Given the description of an element on the screen output the (x, y) to click on. 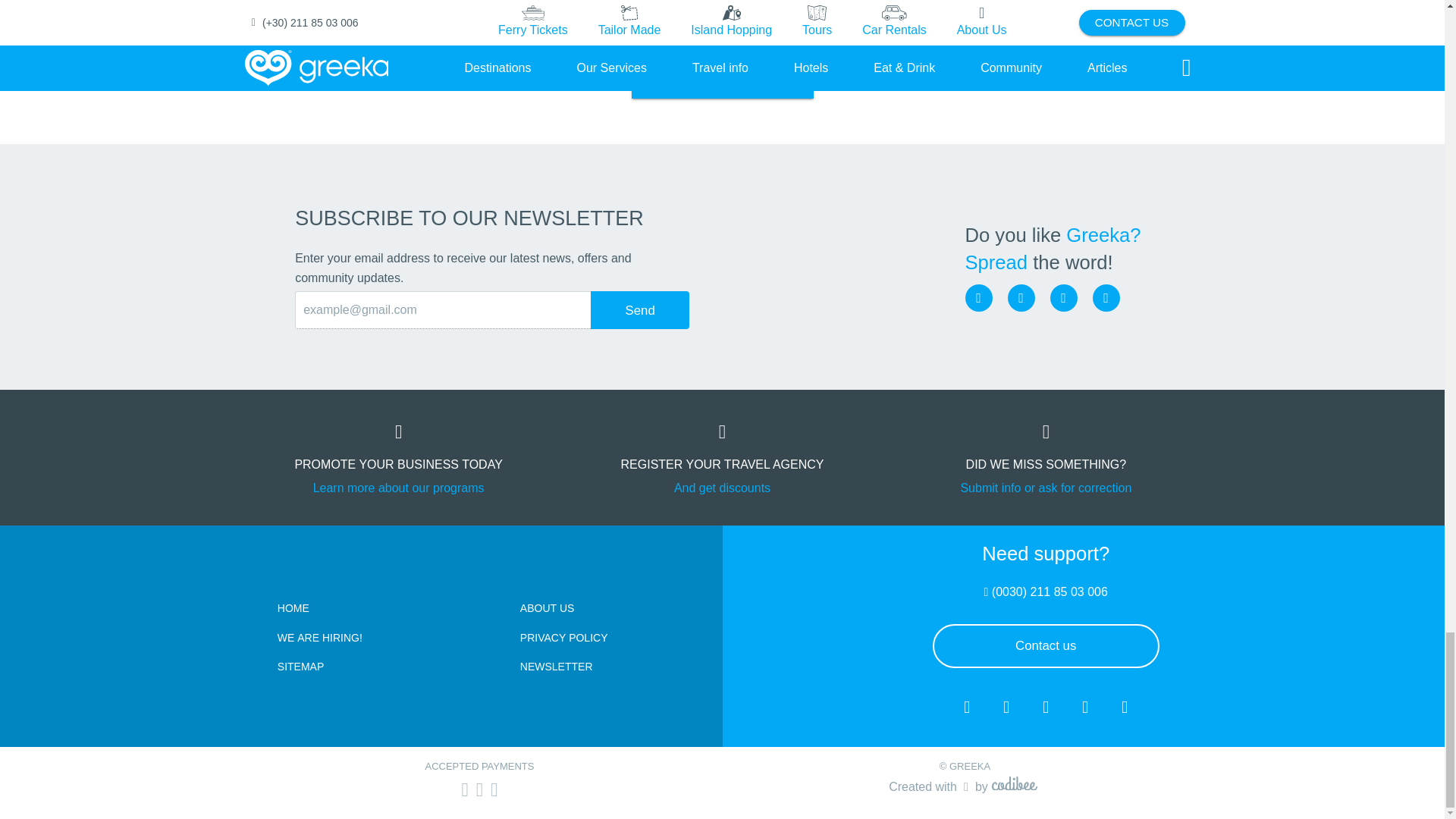
Send (639, 310)
